Given the description of an element on the screen output the (x, y) to click on. 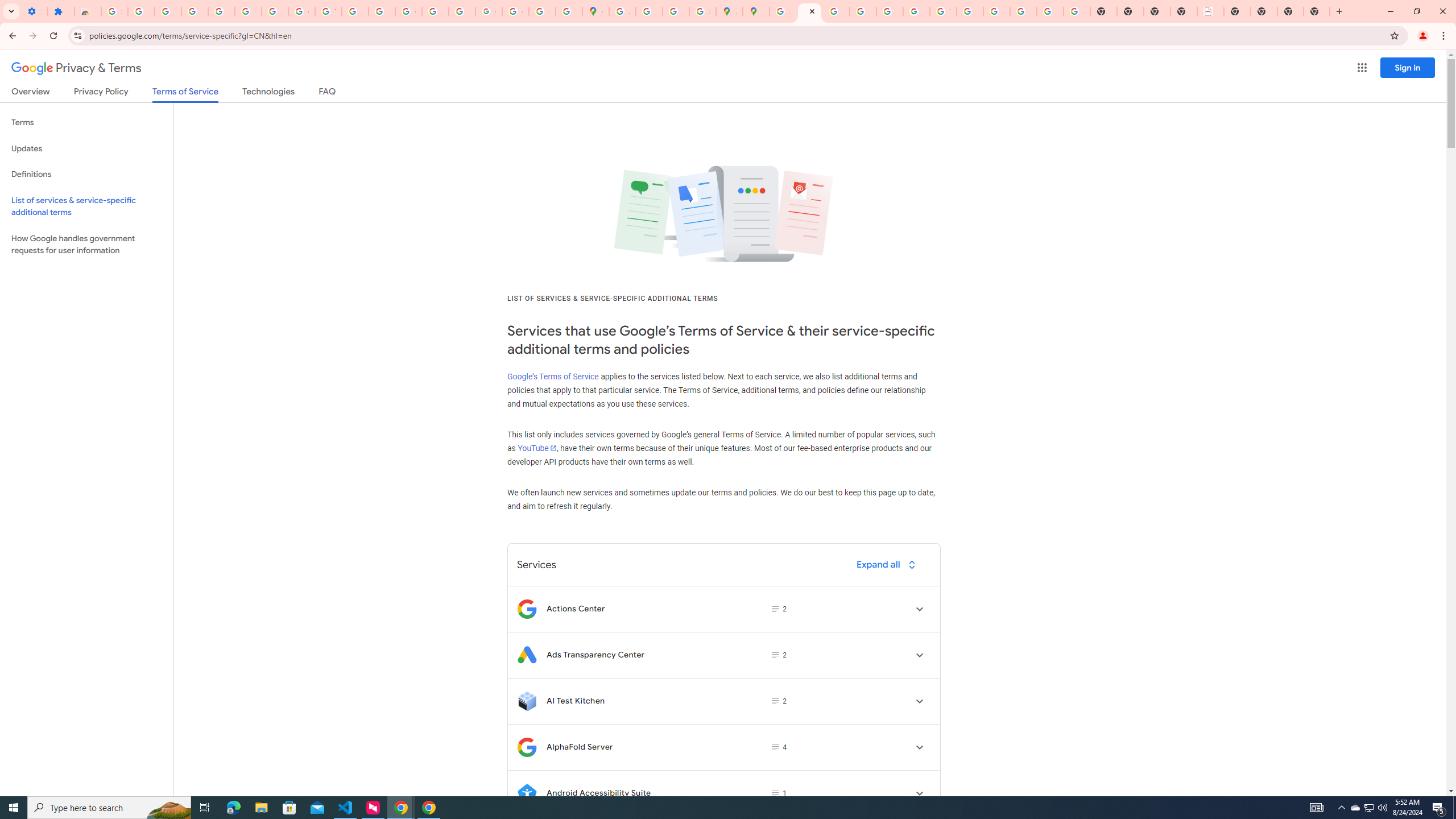
Delete photos & videos - Computer - Google Photos Help (167, 11)
Logo for Ads Transparency Center (526, 654)
